Given the description of an element on the screen output the (x, y) to click on. 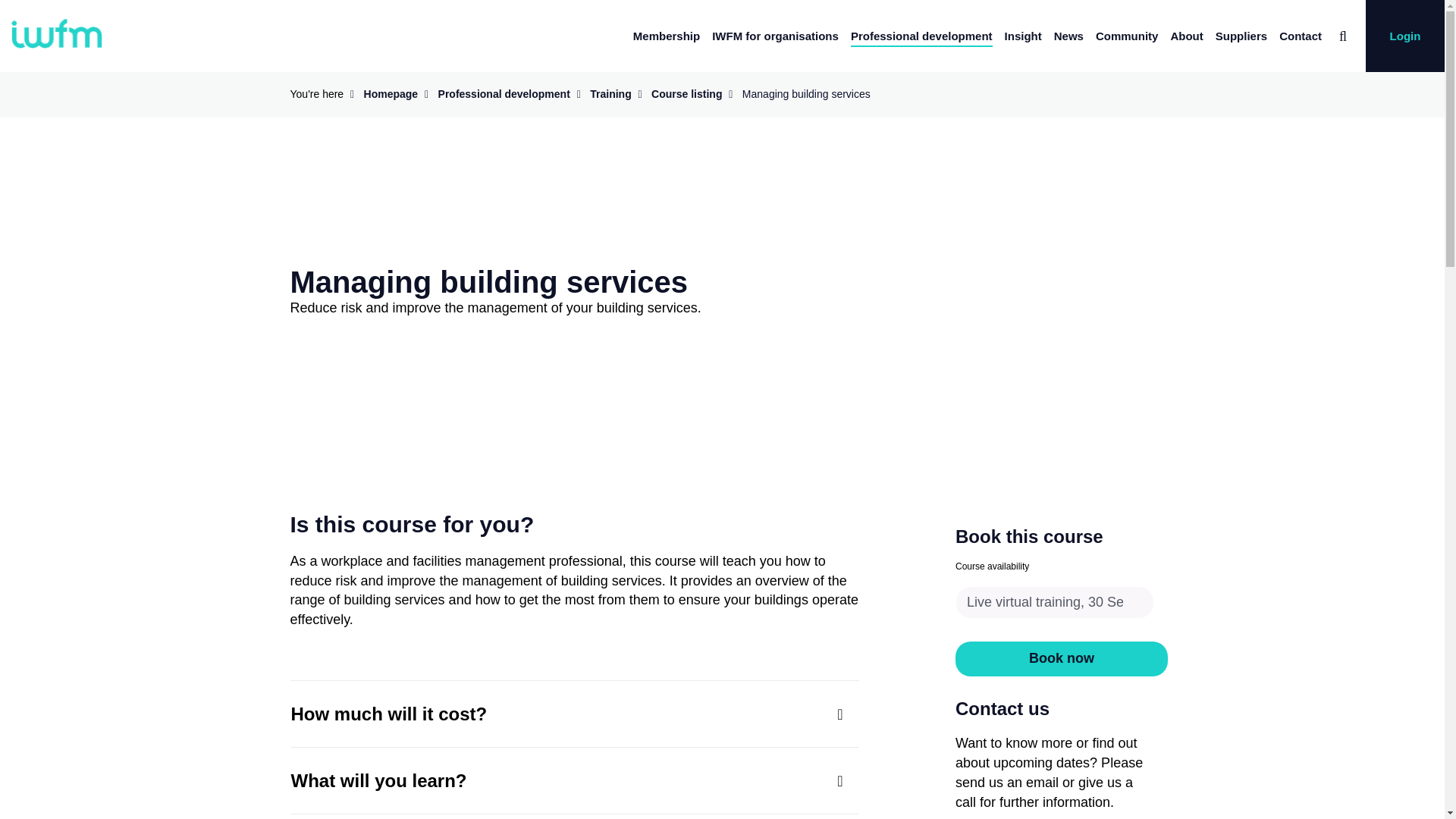
Training (609, 93)
Community (1127, 35)
Course listing (686, 93)
Contact (1300, 35)
Homepage (391, 93)
About (1186, 35)
IWFM for organisations (774, 35)
Membership (666, 35)
Professional development (921, 35)
How much will it cost? (575, 713)
News (1068, 35)
Suppliers (1240, 35)
What will you learn? (575, 781)
Book now (1061, 658)
Professional development (504, 93)
